Given the description of an element on the screen output the (x, y) to click on. 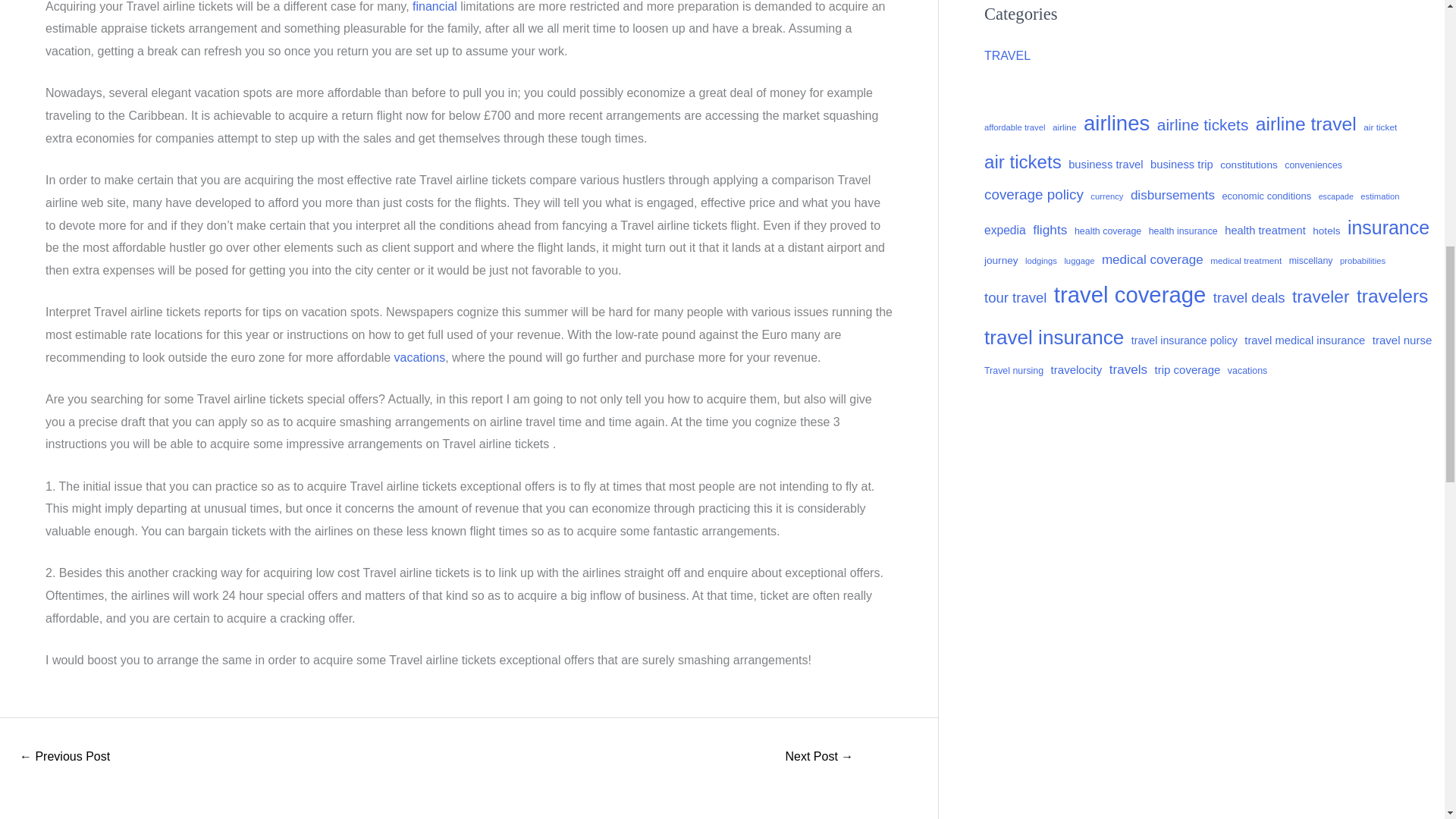
Travel airline flights  (64, 757)
Travel city airline  (818, 757)
financial (434, 6)
vacations (419, 357)
TRAVEL (1007, 55)
